Given the description of an element on the screen output the (x, y) to click on. 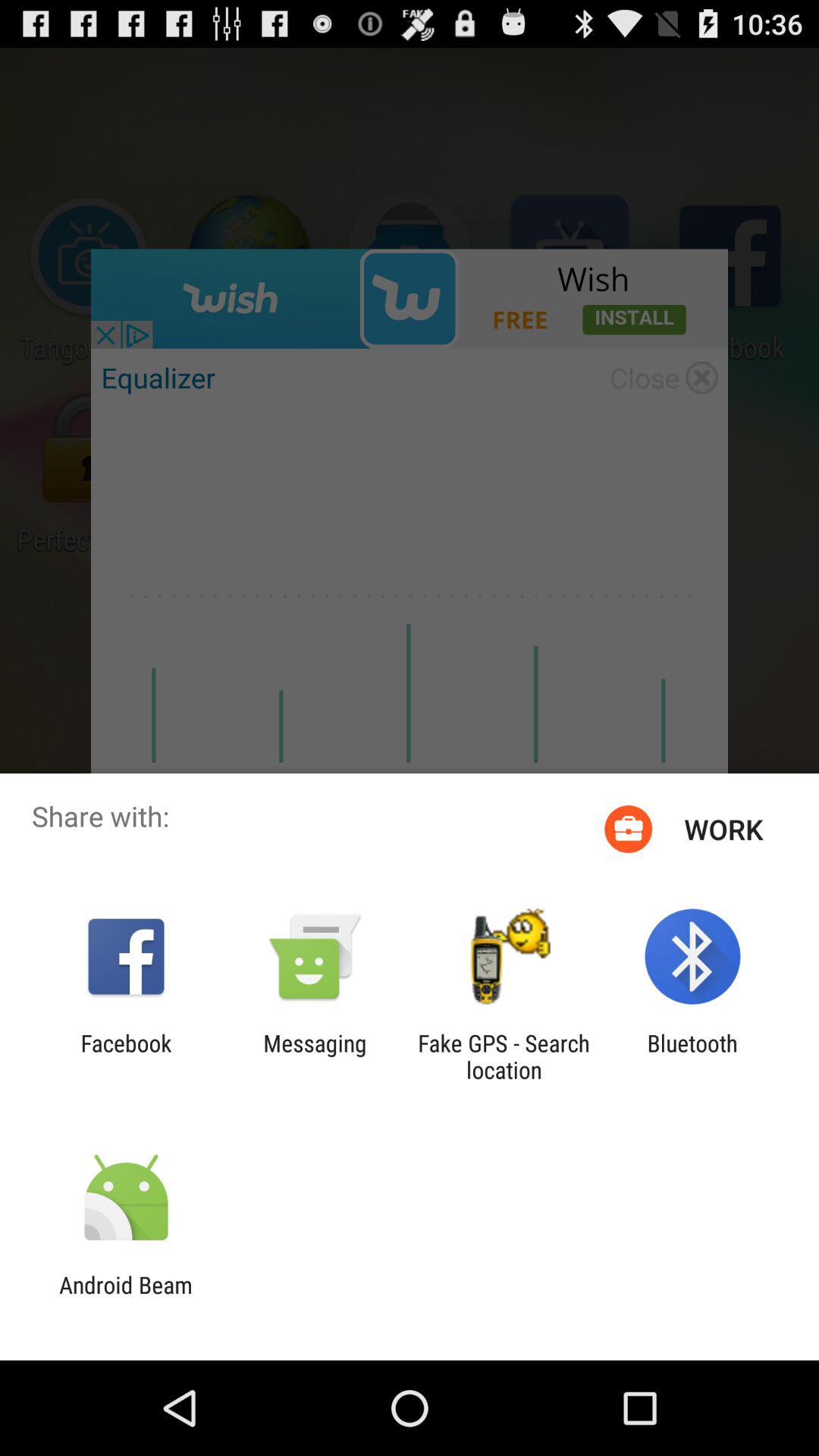
jump to bluetooth (692, 1056)
